Given the description of an element on the screen output the (x, y) to click on. 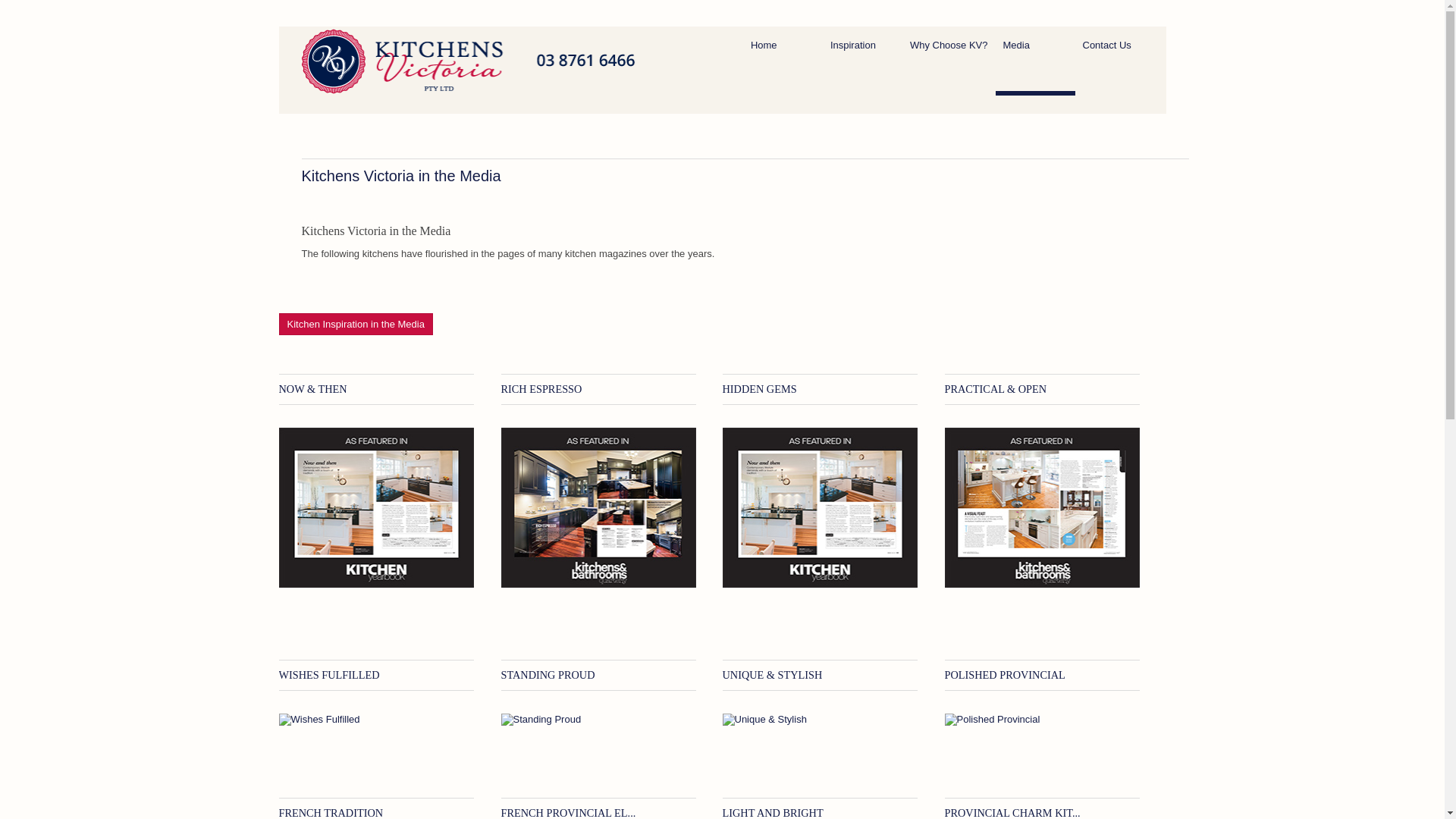
NOW & THEN Element type: text (313, 388)
Kitchen Inspiration in the Media Element type: text (356, 324)
Polished Provincial Element type: hover (1042, 719)
UNIQUE & STYLISH Element type: text (771, 674)
Why Choose KV? Element type: text (948, 66)
Unique & Stylish Element type: hover (819, 719)
Standing Proud Element type: hover (598, 719)
Media Element type: text (1034, 66)
Rich Espresso Element type: hover (598, 507)
STANDING PROUD Element type: text (547, 674)
Contact Us Element type: text (1114, 66)
Hidden Gems Element type: hover (819, 507)
Home Element type: text (782, 66)
HIDDEN GEMS Element type: text (758, 388)
WISHES FULFILLED Element type: text (329, 674)
Kitchens Victoria in the Media Element type: text (401, 175)
Now & Then Element type: hover (376, 507)
RICH ESPRESSO Element type: text (540, 388)
POLISHED PROVINCIAL Element type: text (1004, 674)
Wishes Fulfilled Element type: hover (376, 719)
Practical & Open Element type: hover (1042, 507)
Inspiration Element type: text (862, 66)
PRACTICAL & OPEN Element type: text (995, 388)
